Given the description of an element on the screen output the (x, y) to click on. 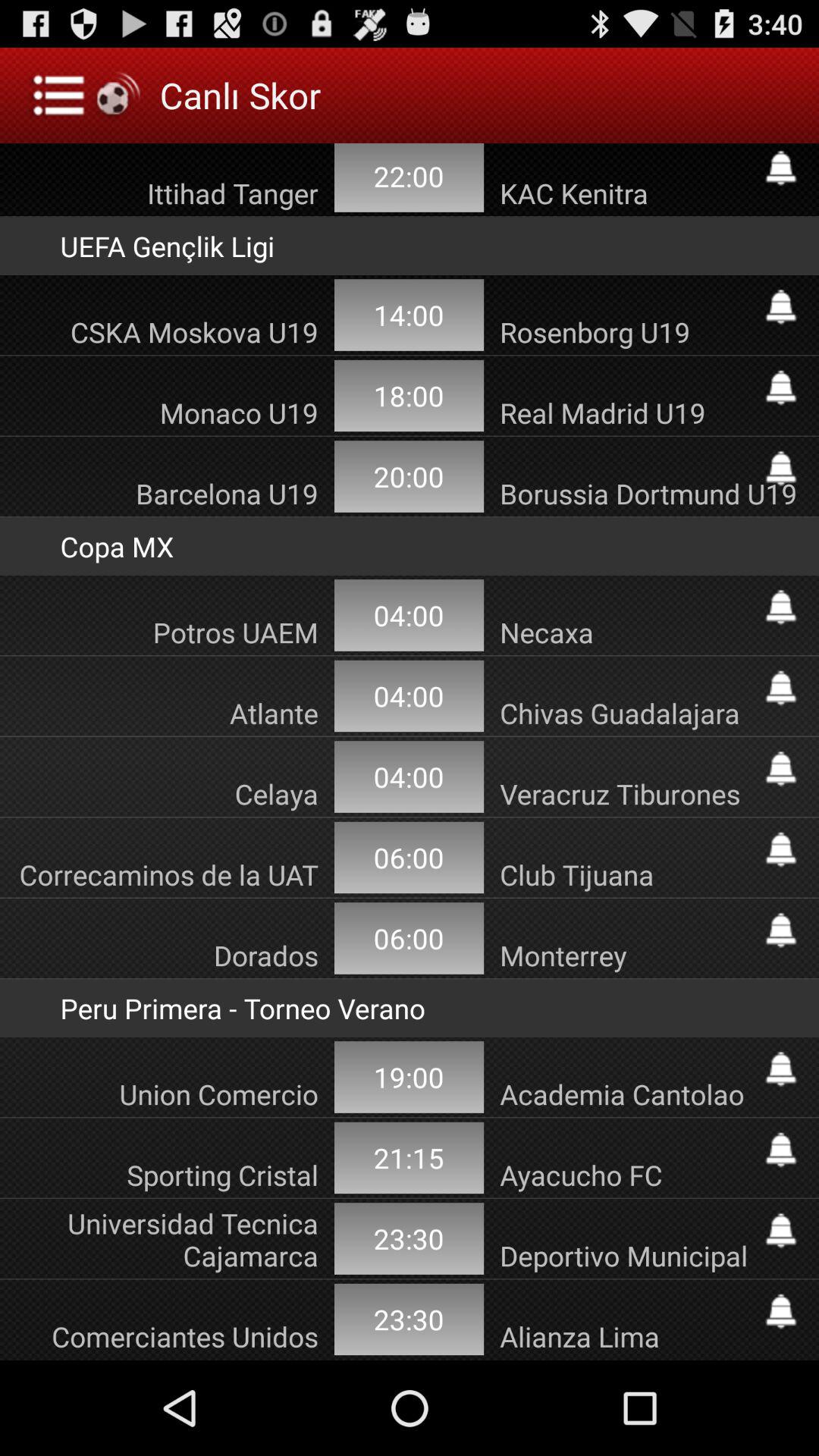
notification bell (780, 1069)
